Given the description of an element on the screen output the (x, y) to click on. 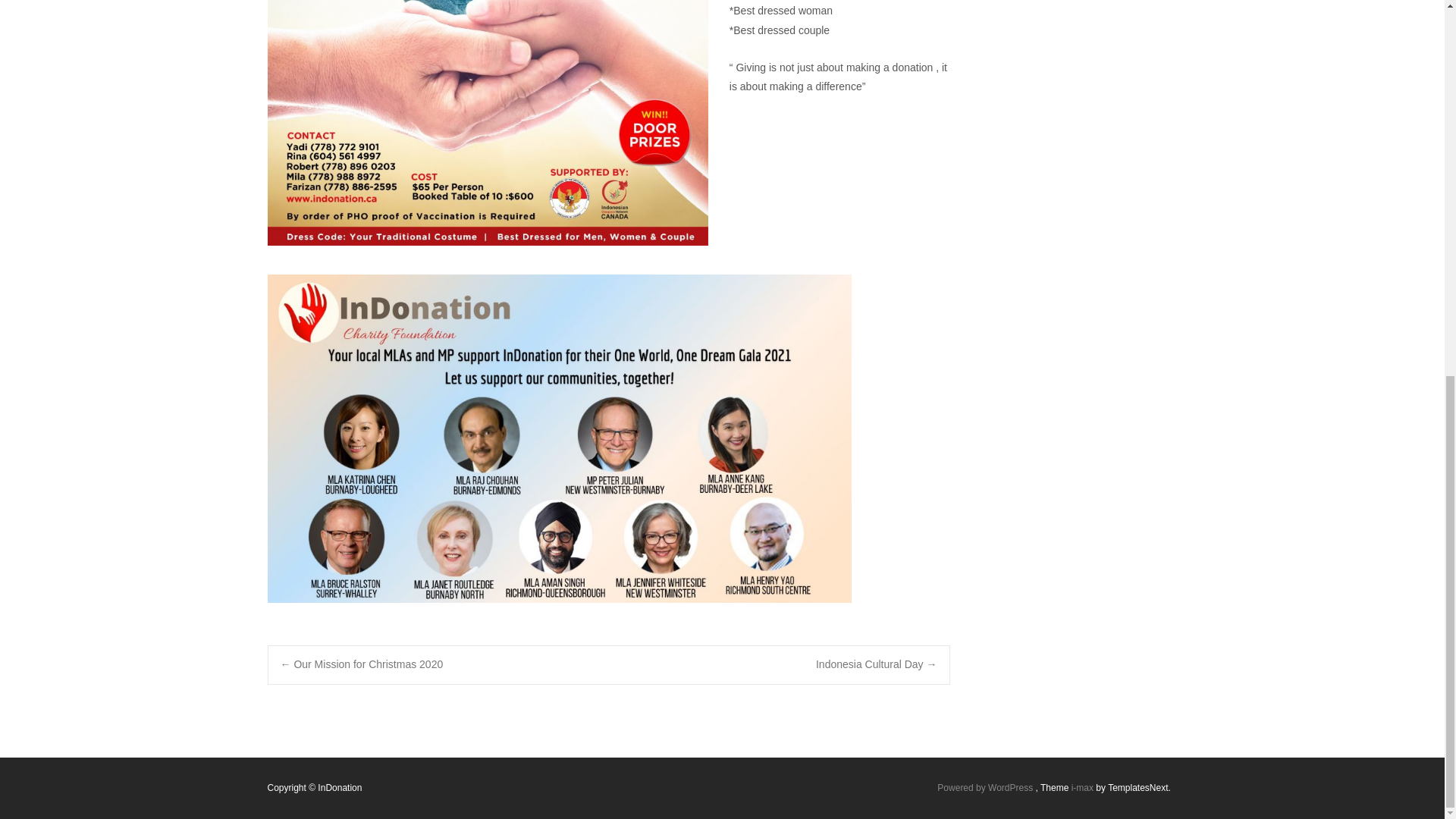
i-max (1083, 787)
Powered by WordPress (986, 787)
